Given the description of an element on the screen output the (x, y) to click on. 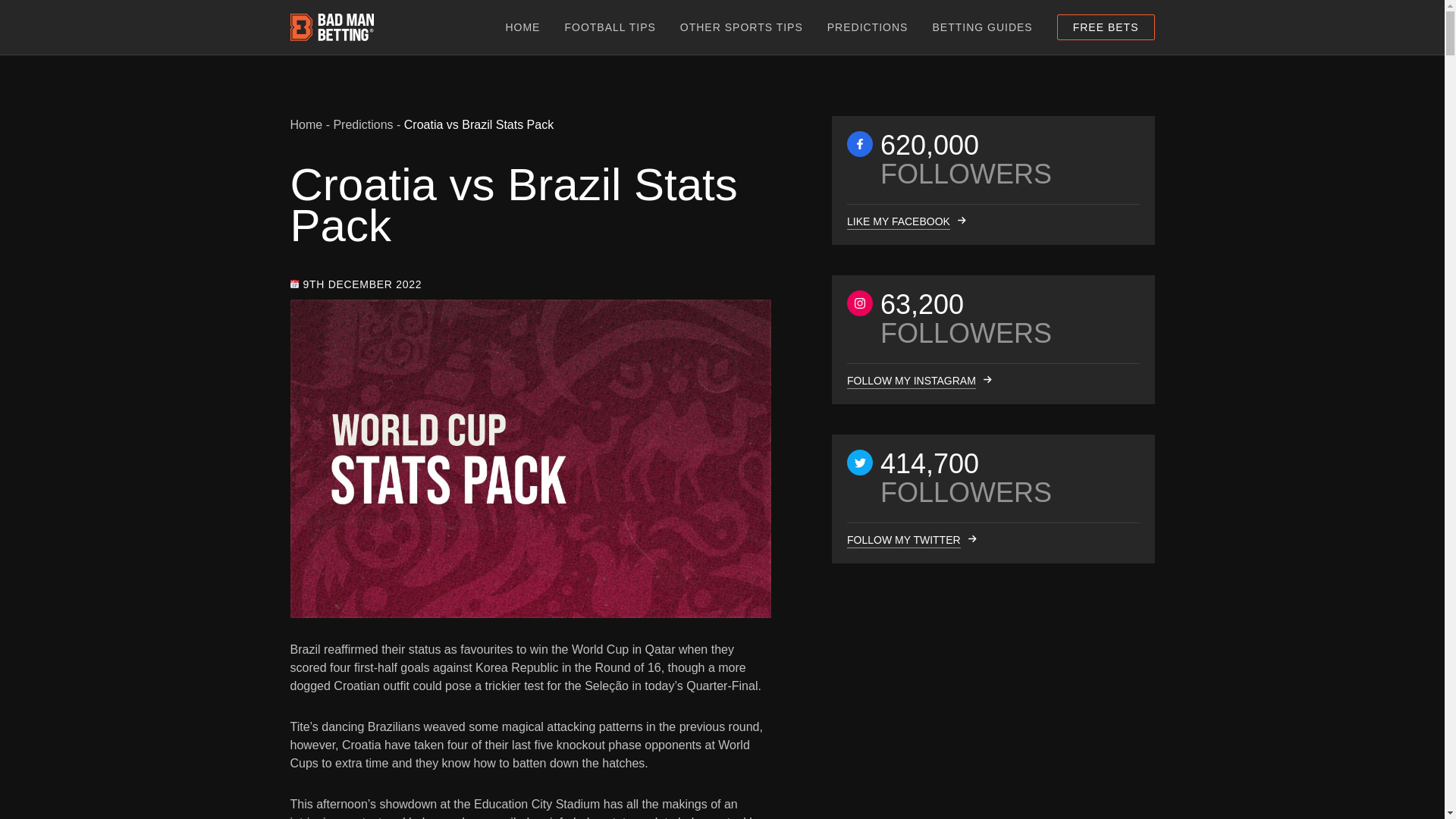
FOOTBALL TIPS (609, 27)
PREDICTIONS (867, 27)
BETTING GUIDES (981, 27)
LIKE MY FACEBOOK (897, 221)
FOLLOW MY INSTAGRAM (910, 381)
FOLLOW MY TWITTER (902, 539)
HOME (522, 27)
Home (305, 124)
OTHER SPORTS TIPS (741, 27)
Predictions (363, 124)
